Given the description of an element on the screen output the (x, y) to click on. 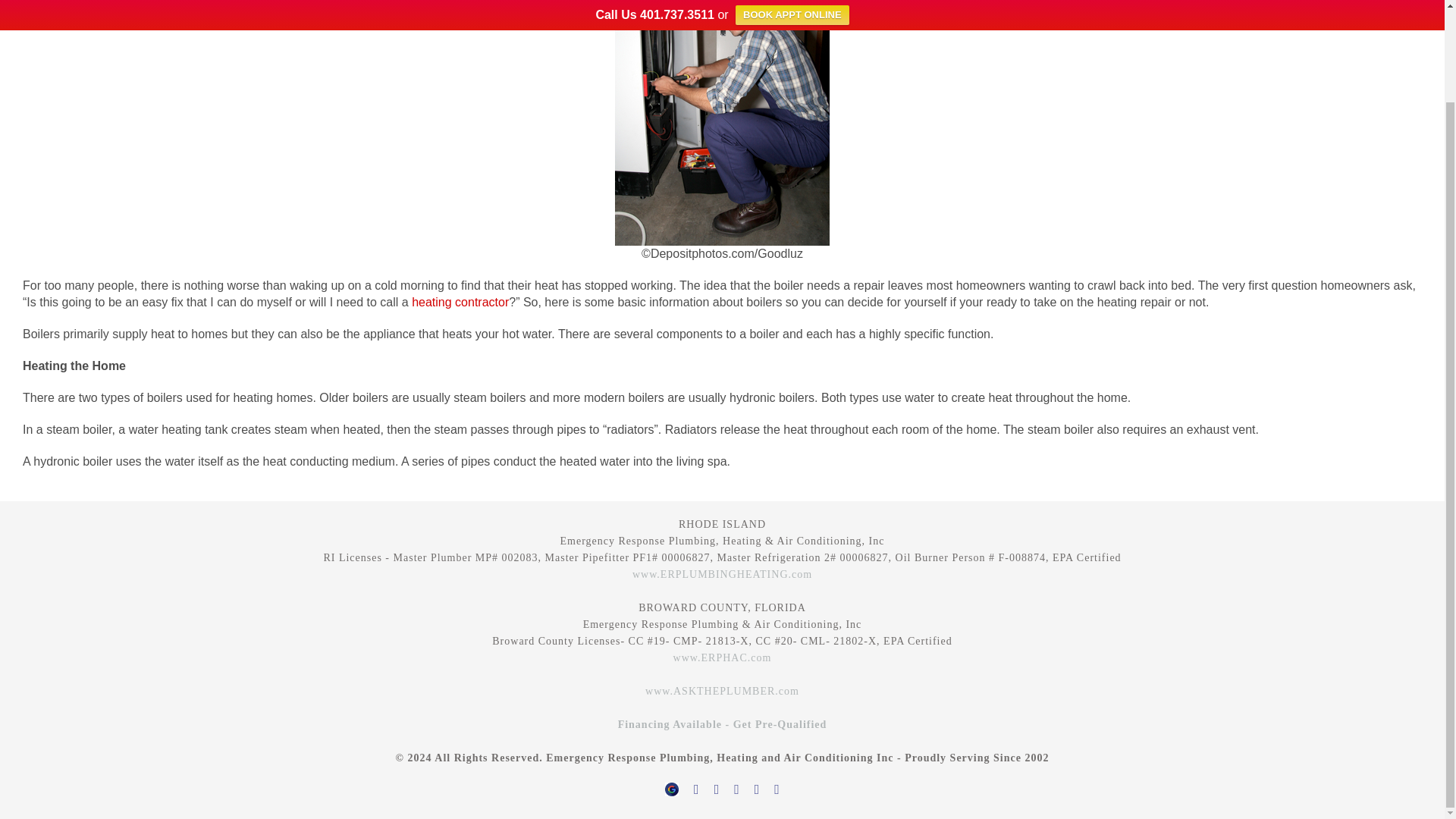
Financing Available - Get Pre-Qualified (722, 724)
www.ERPHAC.com (721, 657)
Google (671, 786)
www.ASKTHEPLUMBER.com (722, 690)
heating contractor (460, 301)
www.ERPLUMBINGHEATING.com (721, 573)
heating contractor (460, 301)
Google (671, 786)
